Given the description of an element on the screen output the (x, y) to click on. 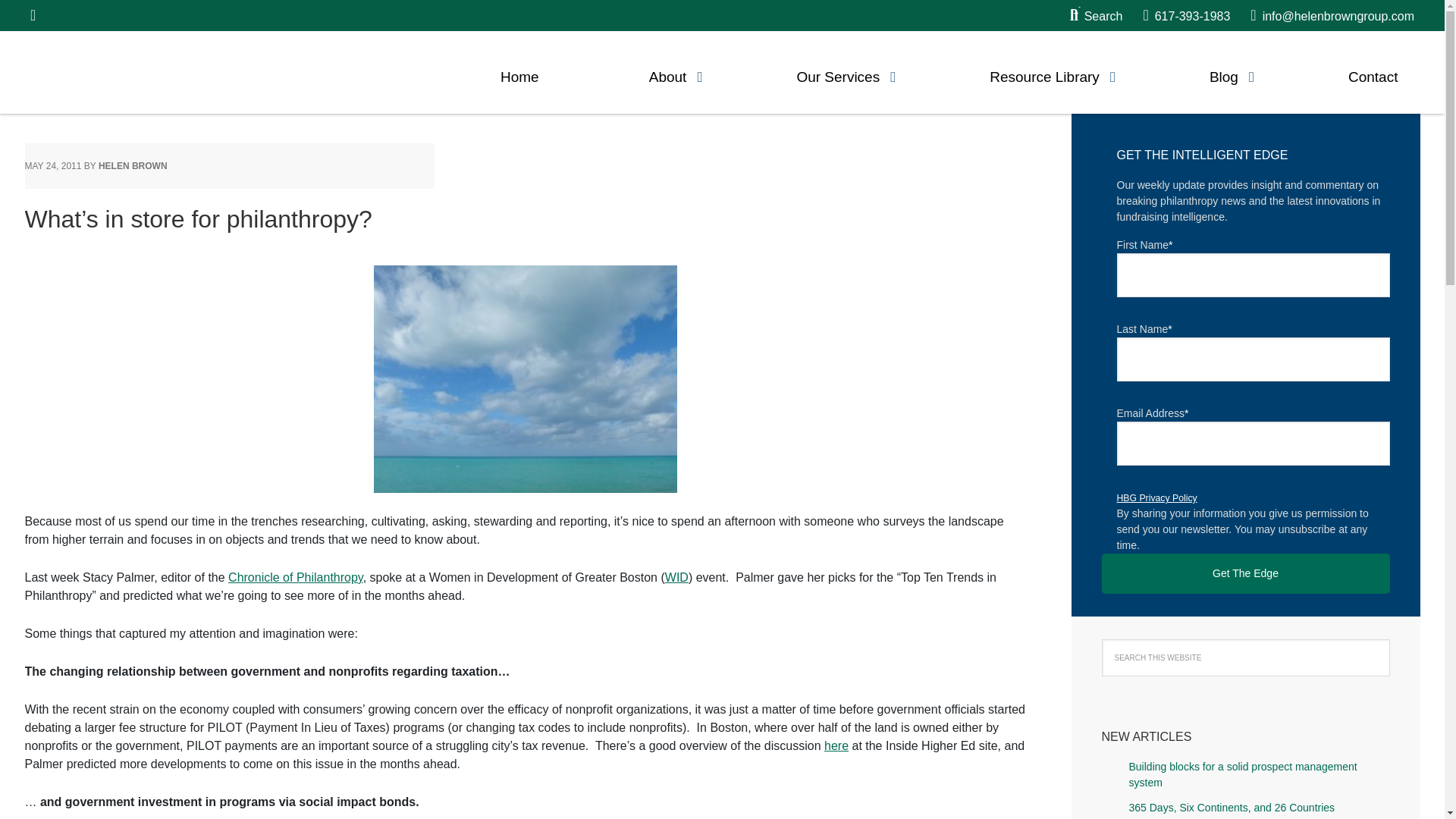
Search (1096, 16)
Resource Library (1044, 72)
617-393-1983 (1186, 15)
Helen Brown Group (170, 71)
Our Services (837, 72)
Get The Edge (1244, 573)
